Given the description of an element on the screen output the (x, y) to click on. 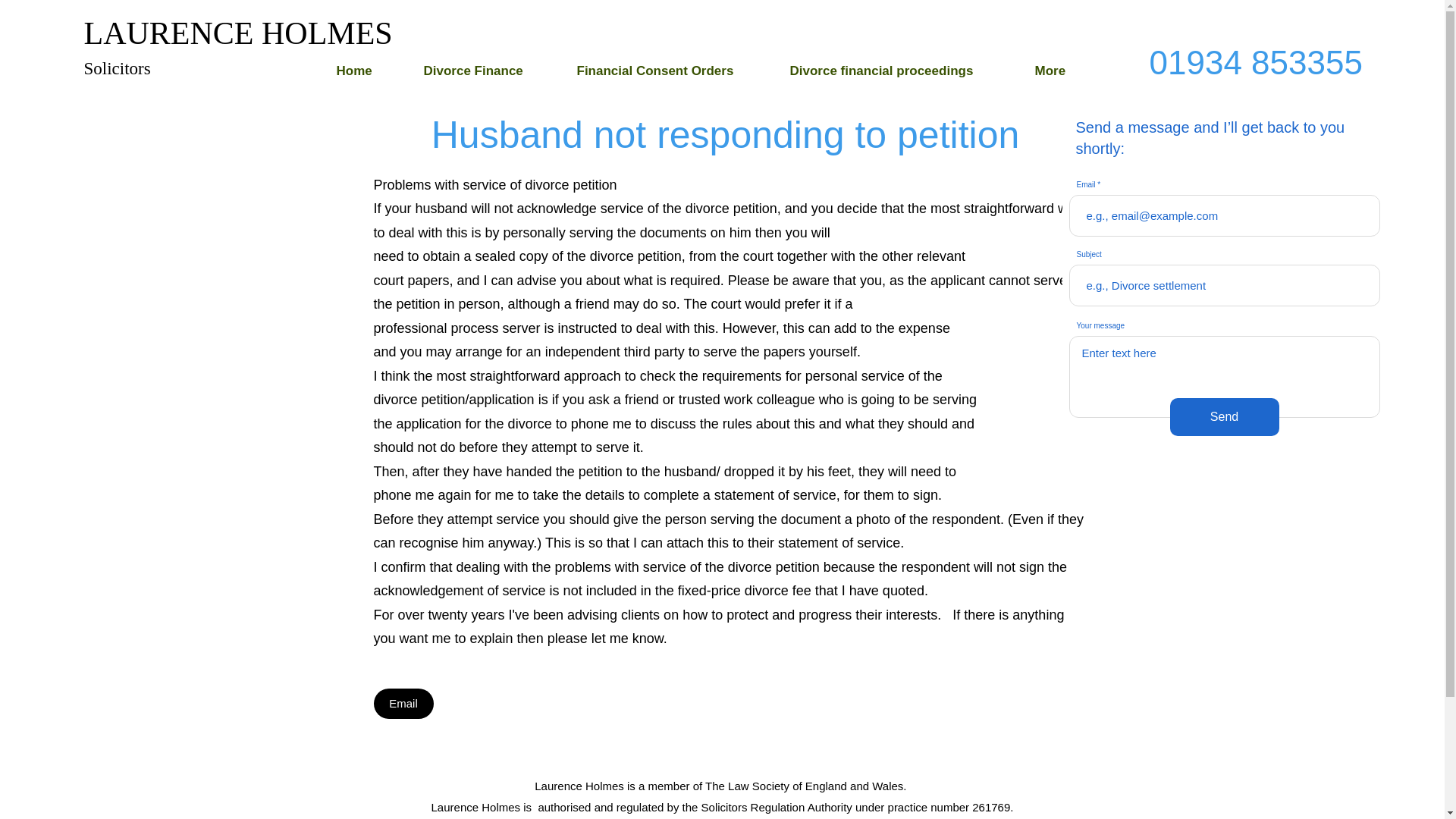
Financial Consent Orders (675, 71)
Divorce financial proceedings (905, 71)
Home (372, 71)
Divorce Finance (491, 71)
